Given the description of an element on the screen output the (x, y) to click on. 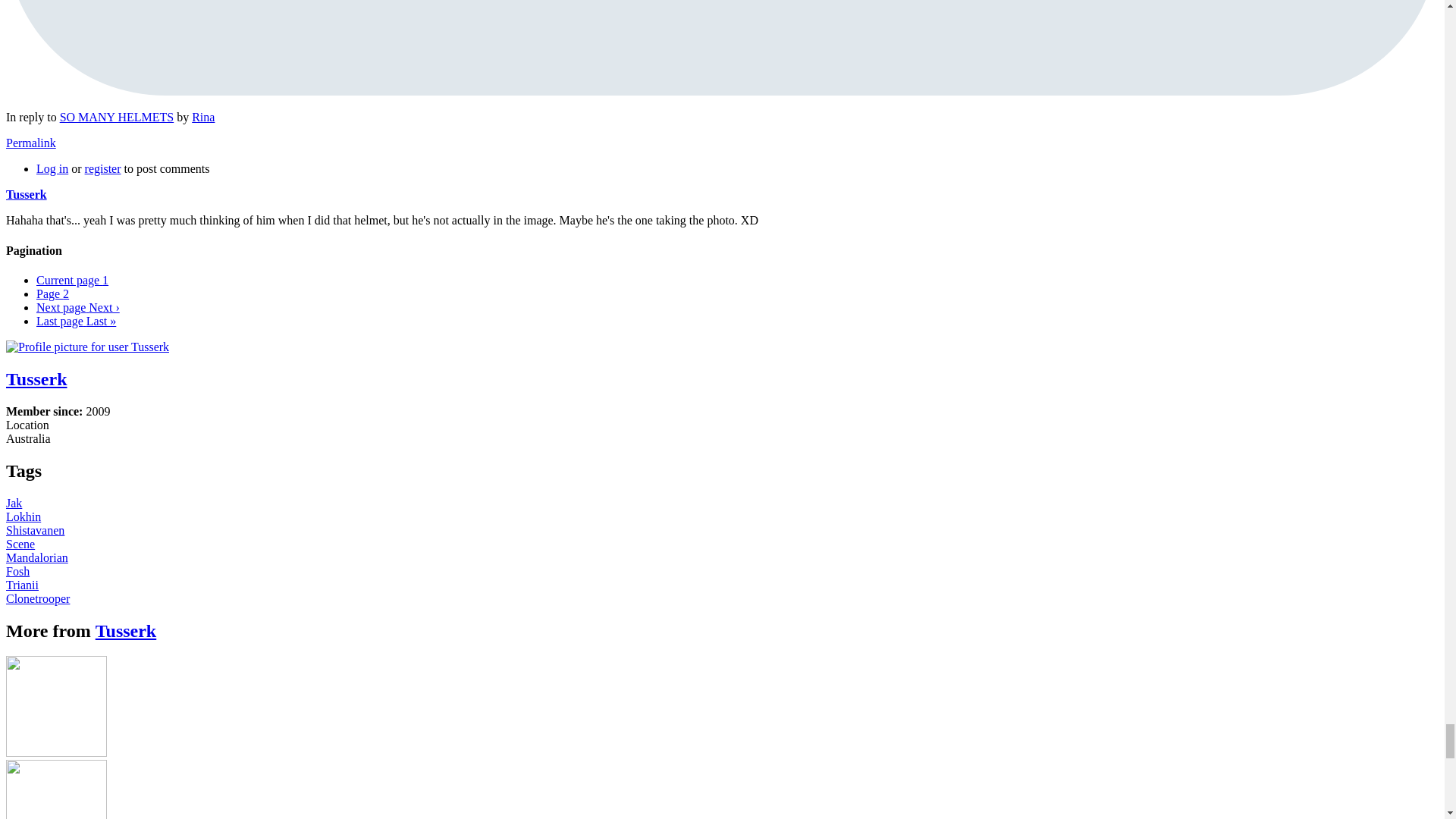
View user profile. (25, 194)
Current page (71, 279)
View user profile. (203, 116)
